Given the description of an element on the screen output the (x, y) to click on. 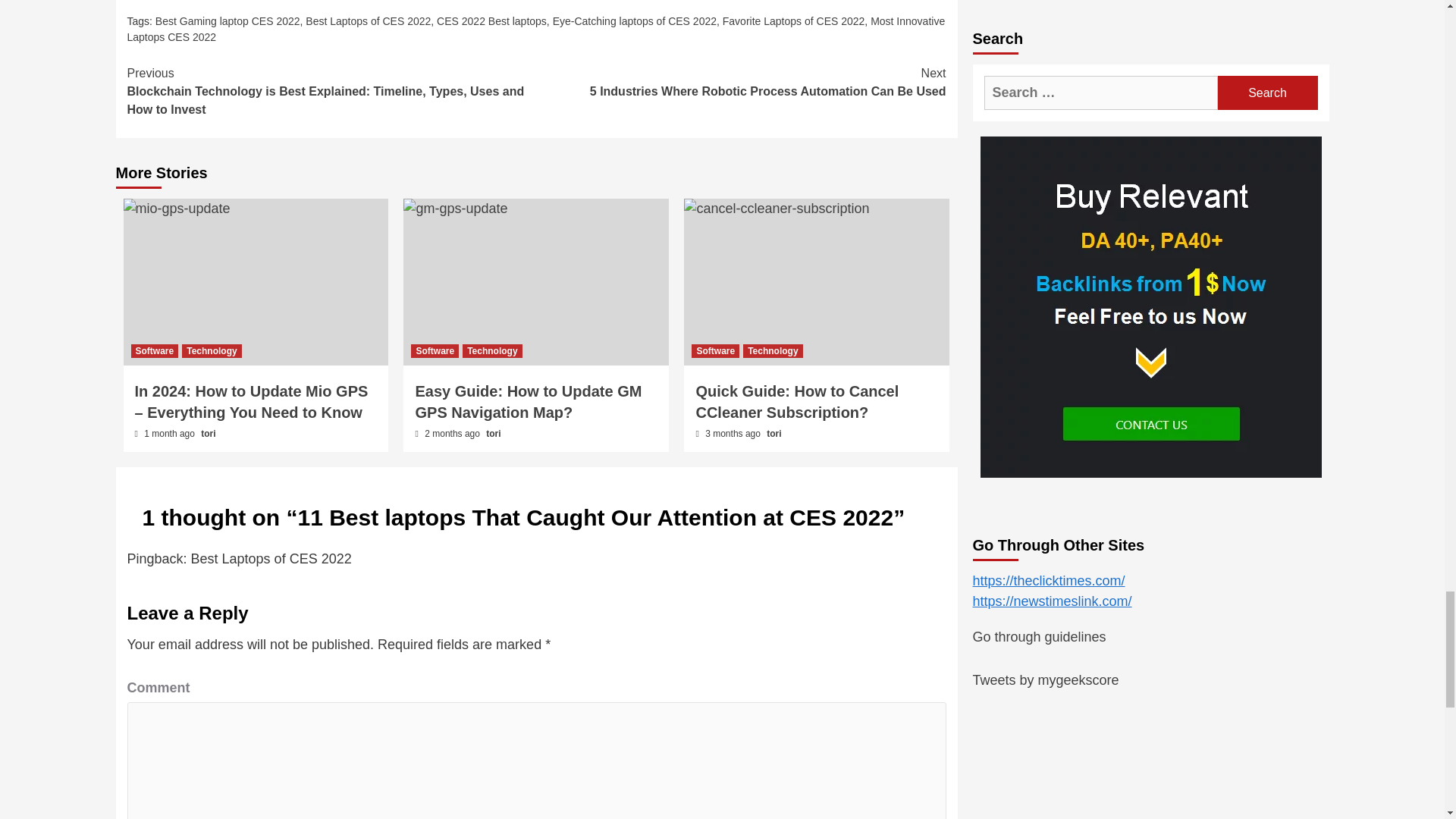
CES 2022 Best laptops (491, 21)
Favorite Laptops of CES 2022 (793, 21)
Best Laptops of CES 2022 (367, 21)
tori (207, 433)
Software (154, 350)
Eye-Catching laptops of CES 2022 (634, 21)
Technology (211, 350)
Best Gaming laptop CES 2022 (227, 21)
Most Innovative Laptops CES 2022 (536, 29)
